Given the description of an element on the screen output the (x, y) to click on. 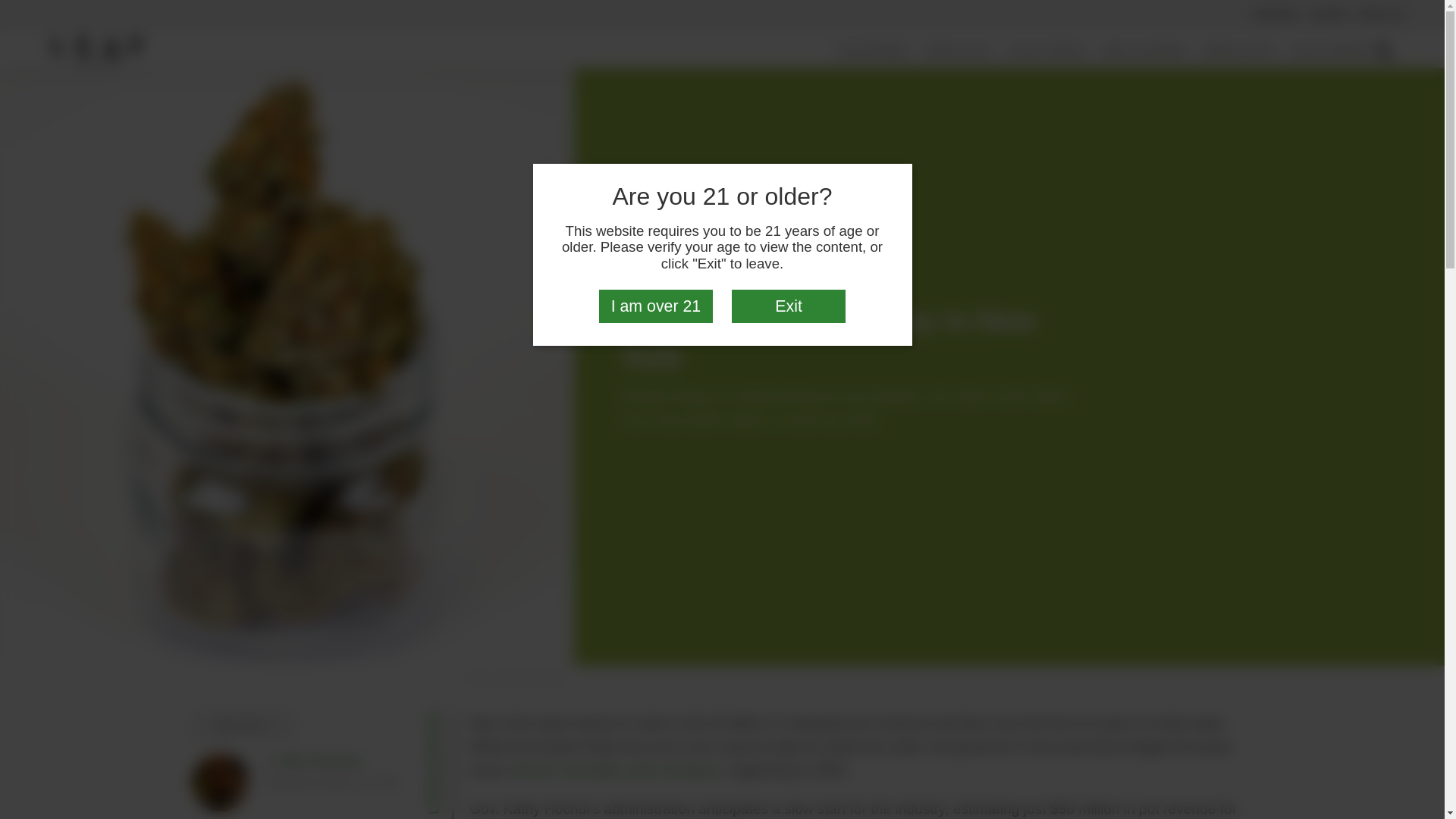
About Us (1380, 14)
Contact (1328, 14)
Share this article (242, 725)
SPECIALS (957, 51)
PODCASTS (1238, 51)
MAGAZINES (1145, 51)
LEAF BOWL (1331, 51)
Advertise (1275, 14)
FEATURES (874, 51)
serious Cannabis cash coming in (615, 770)
LEAF PICKS (1047, 51)
